Given the description of an element on the screen output the (x, y) to click on. 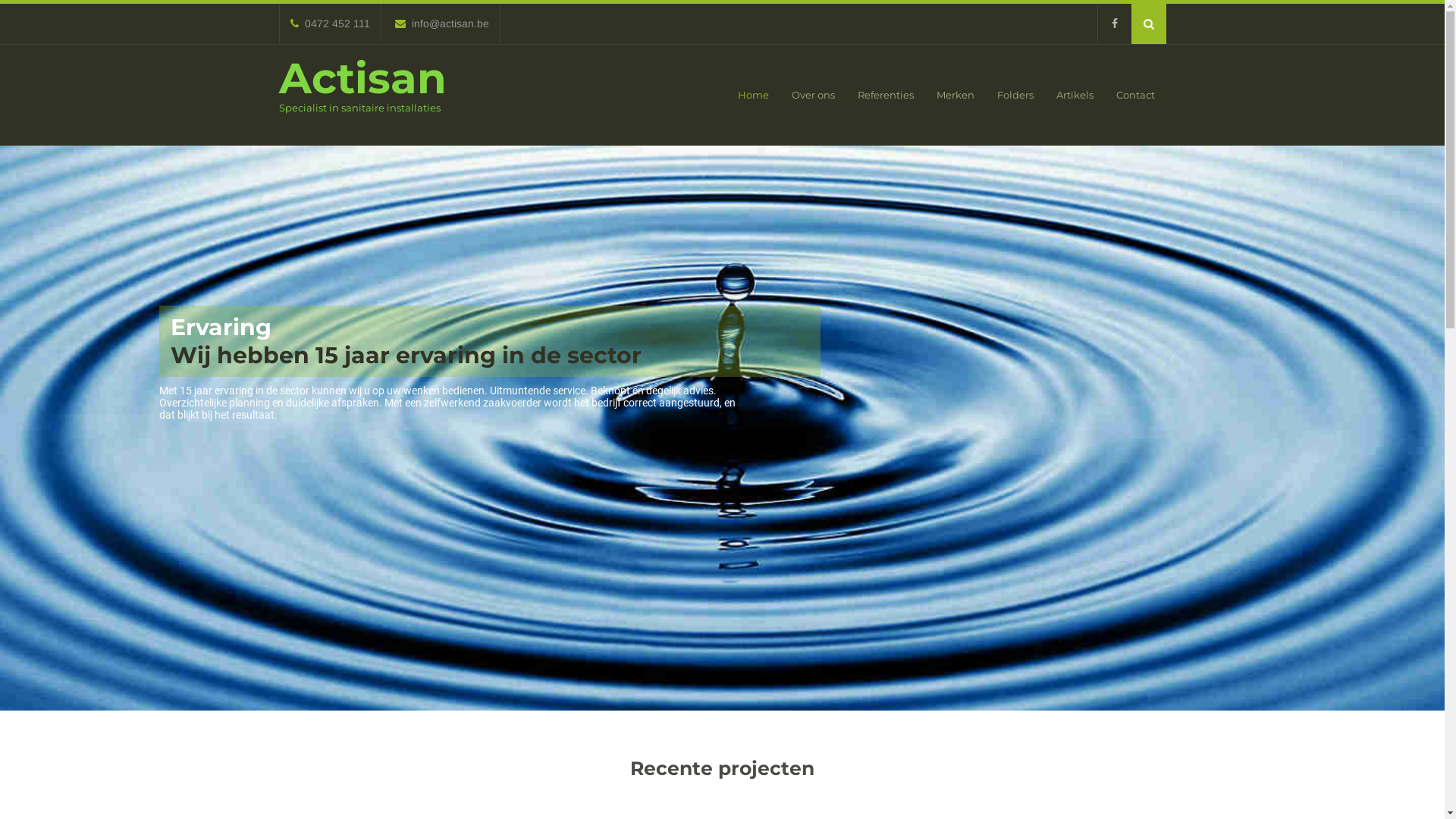
Artikels Element type: text (1074, 94)
Merken Element type: text (955, 94)
Referenties Element type: text (885, 94)
Contact Element type: text (1134, 94)
Folders Element type: text (1014, 94)
Over ons Element type: text (812, 94)
Home Element type: text (753, 94)
Actisan Element type: text (362, 77)
info@actisan.be Element type: text (441, 23)
facebook Element type: hover (1113, 23)
